Given the description of an element on the screen output the (x, y) to click on. 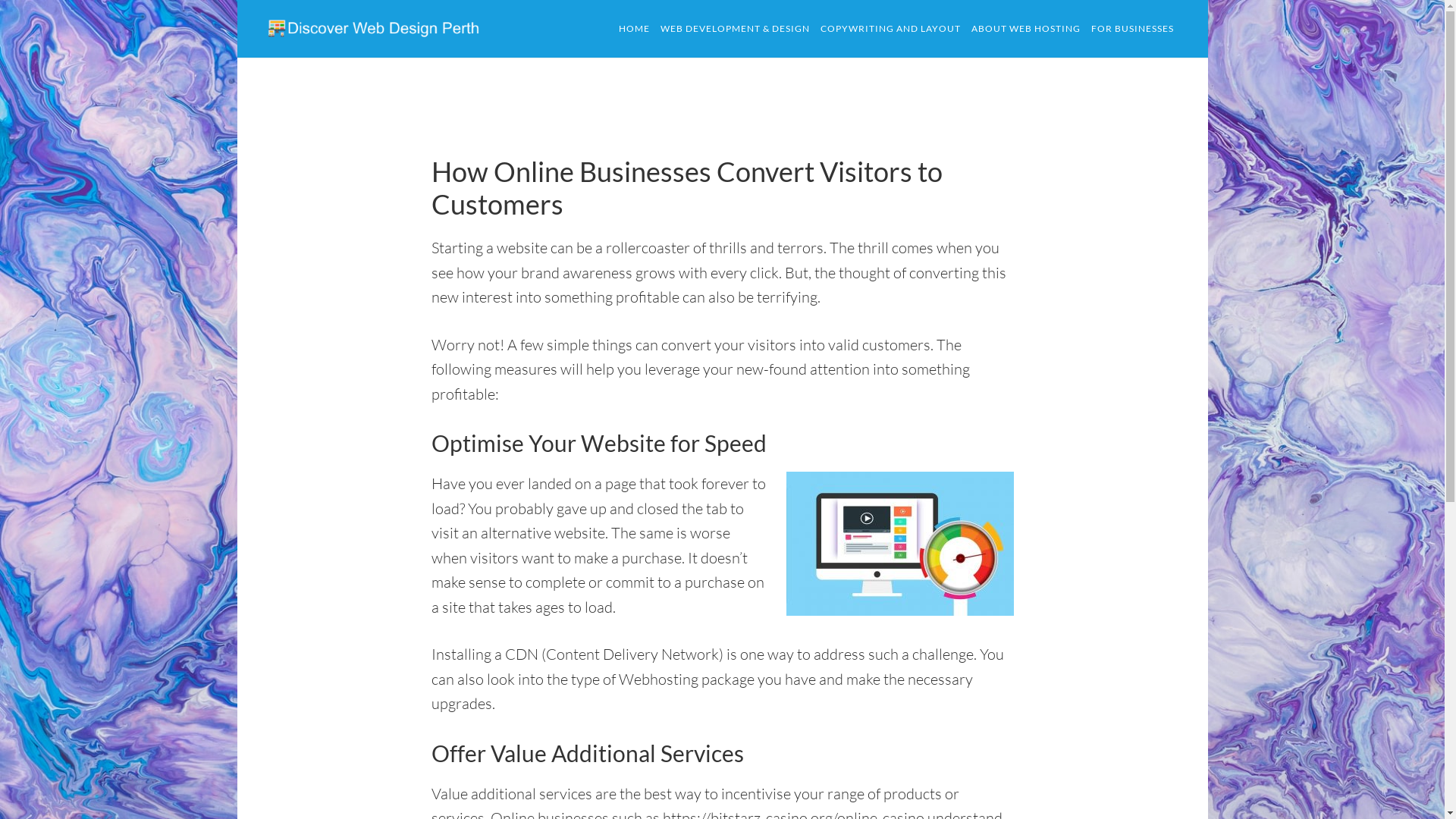
WEB DEVELOPMENT & DESIGN Element type: text (734, 28)
HOME Element type: text (633, 28)
Skip to main content Element type: text (236, 0)
DISCOVERWEBDESIGNPERTH.COM.AU Element type: text (380, 28)
ABOUT WEB HOSTING Element type: text (1025, 28)
COPYWRITING AND LAYOUT Element type: text (889, 28)
FOR BUSINESSES Element type: text (1132, 28)
